Given the description of an element on the screen output the (x, y) to click on. 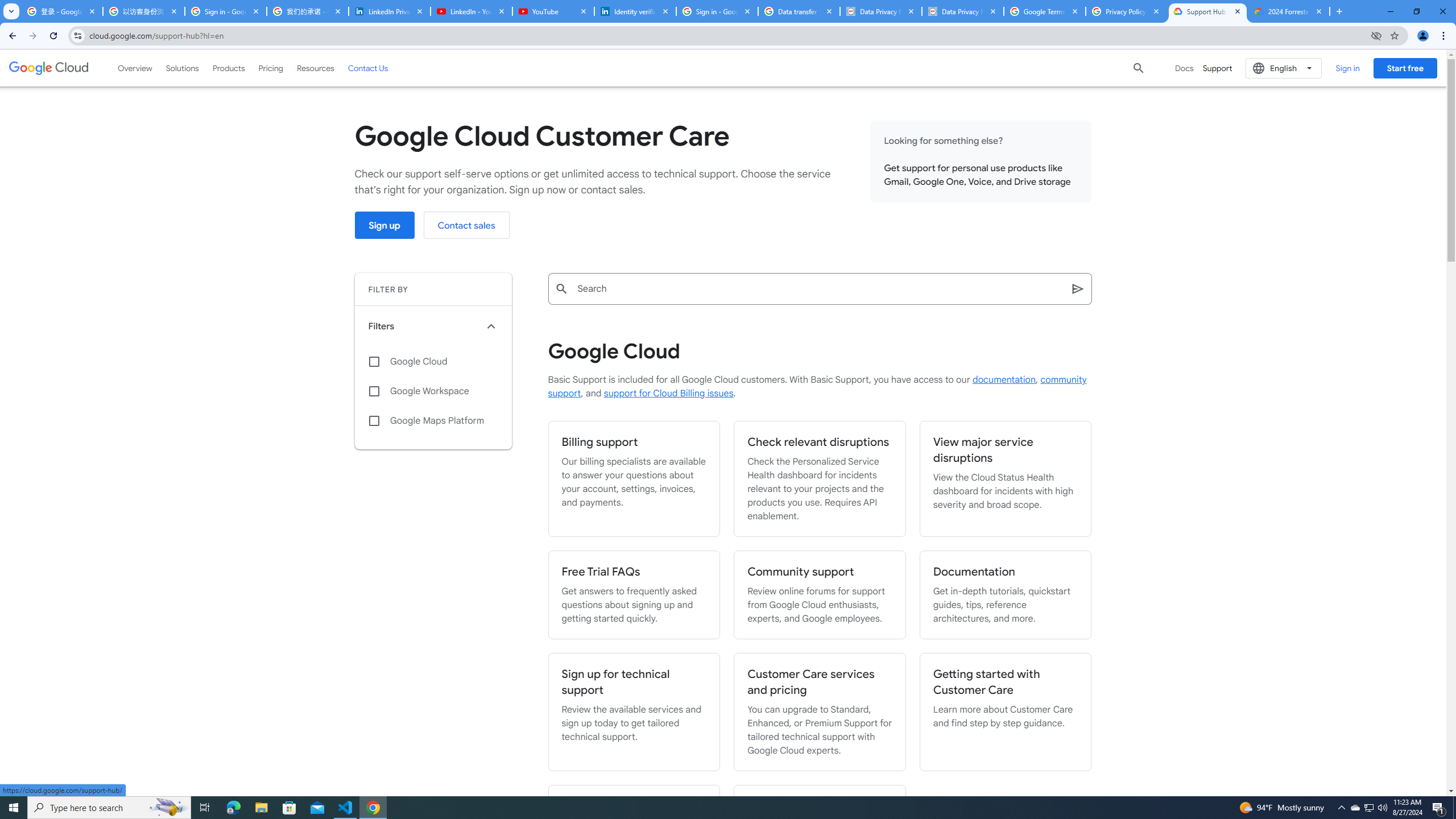
Search (1078, 288)
YouTube (552, 11)
Identity verification via Persona | LinkedIn Help (635, 11)
Google Cloud (48, 67)
Filters keyboard_arrow_up (432, 326)
LinkedIn Privacy Policy (389, 11)
LinkedIn - YouTube (470, 11)
community support (816, 386)
System (6, 6)
Overview (135, 67)
documentation (1004, 379)
